Given the description of an element on the screen output the (x, y) to click on. 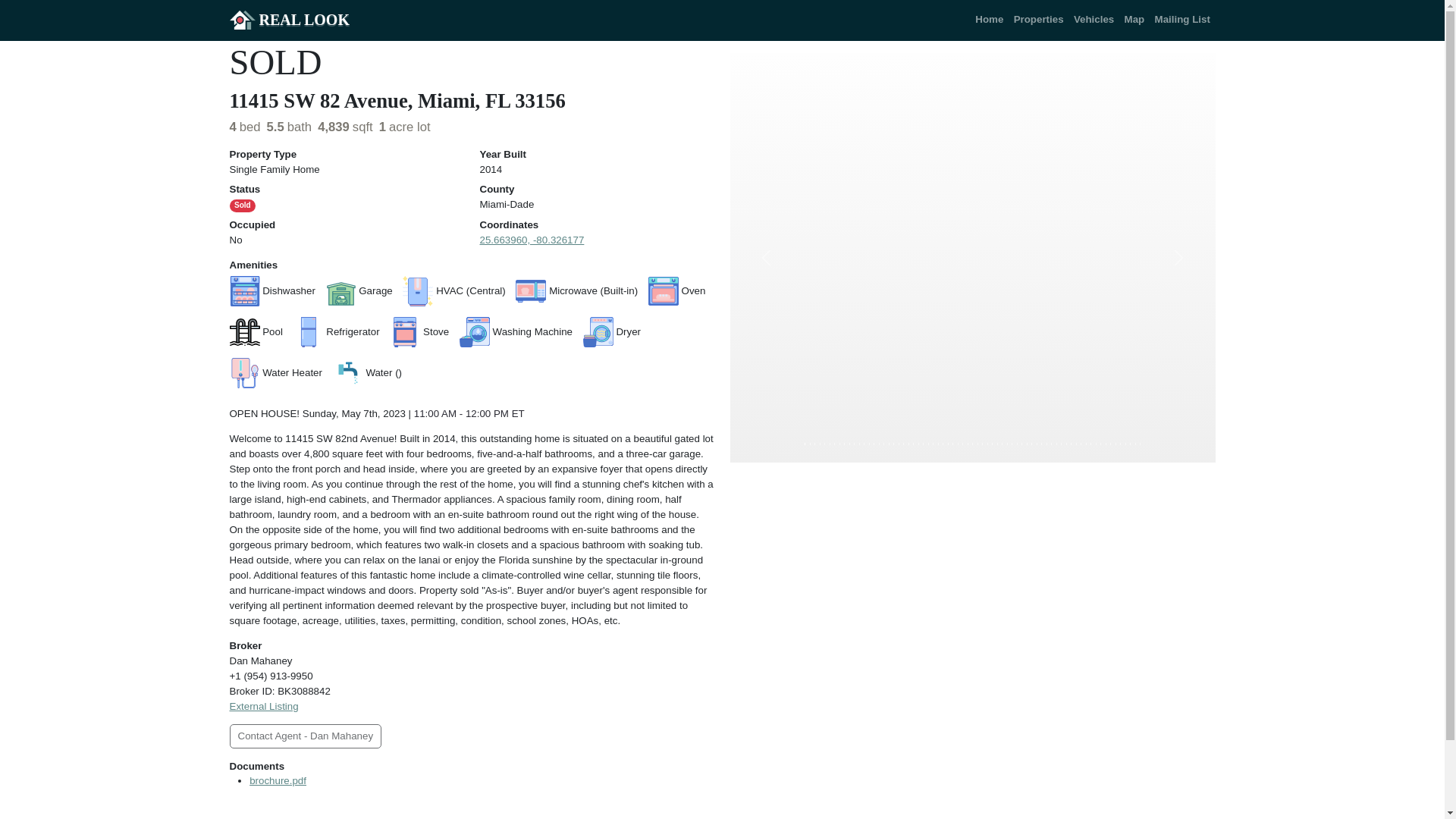
Mailing List (1182, 18)
External Listing (263, 706)
Home (990, 18)
Contact Agent - Dan Mahaney (304, 735)
25.663960, -80.326177 (531, 239)
brochure.pdf (276, 780)
Vehicles (1093, 18)
Map (1134, 18)
Properties (1038, 18)
REAL LOOK (288, 19)
